Given the description of an element on the screen output the (x, y) to click on. 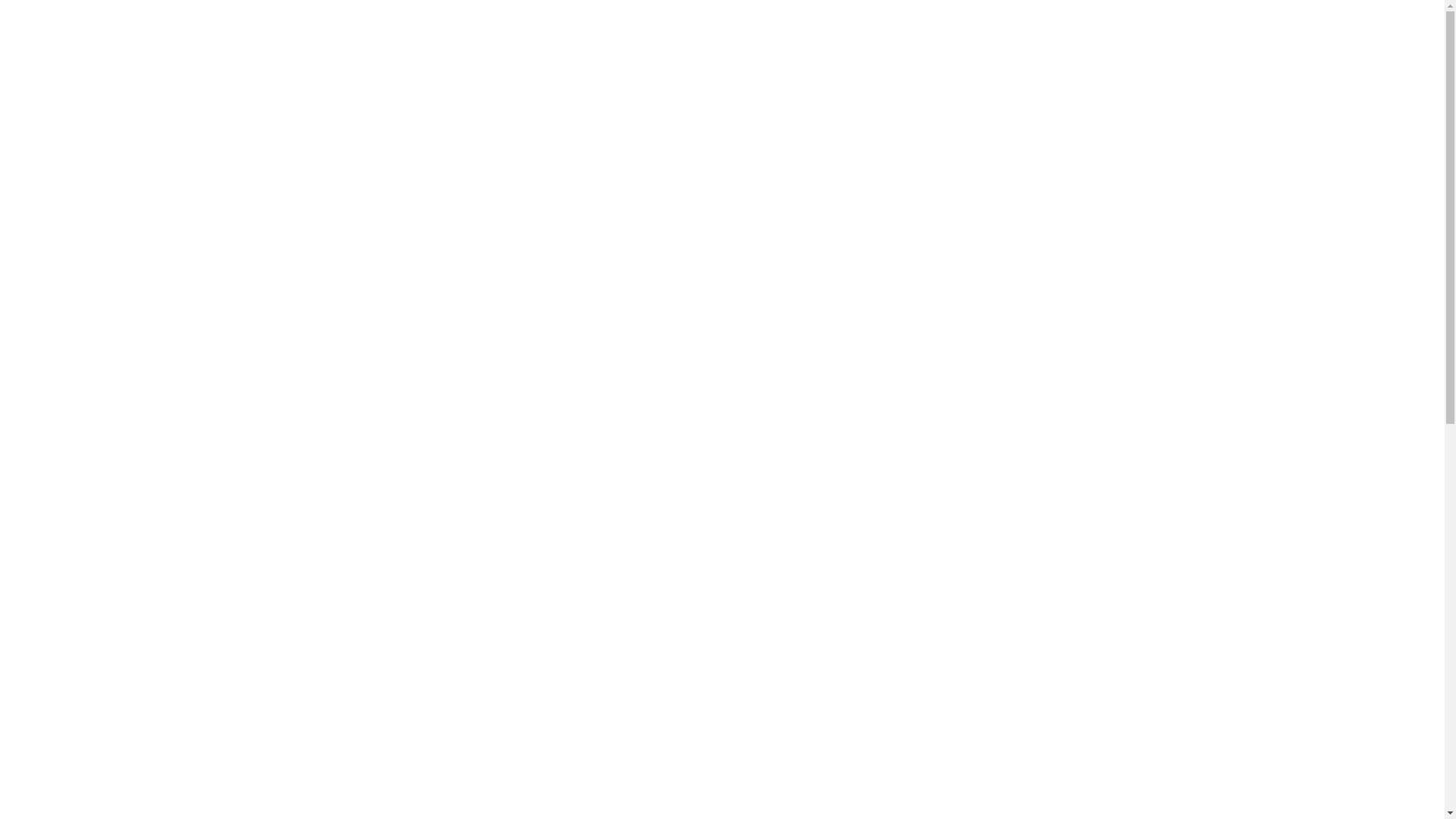
Accueil Element type: text (674, 292)
ET SI VOUS AVIEZ UNE BAGUETTE MAGIQUE? Element type: text (591, 81)
RENDEZ-VOUS Element type: text (771, 84)
CONTACT Element type: text (963, 56)
ACCUEIL Element type: text (501, 56)
SOINS POUR ELLE Element type: text (617, 56)
SOINS POUR LUI Element type: text (751, 56)
